Given the description of an element on the screen output the (x, y) to click on. 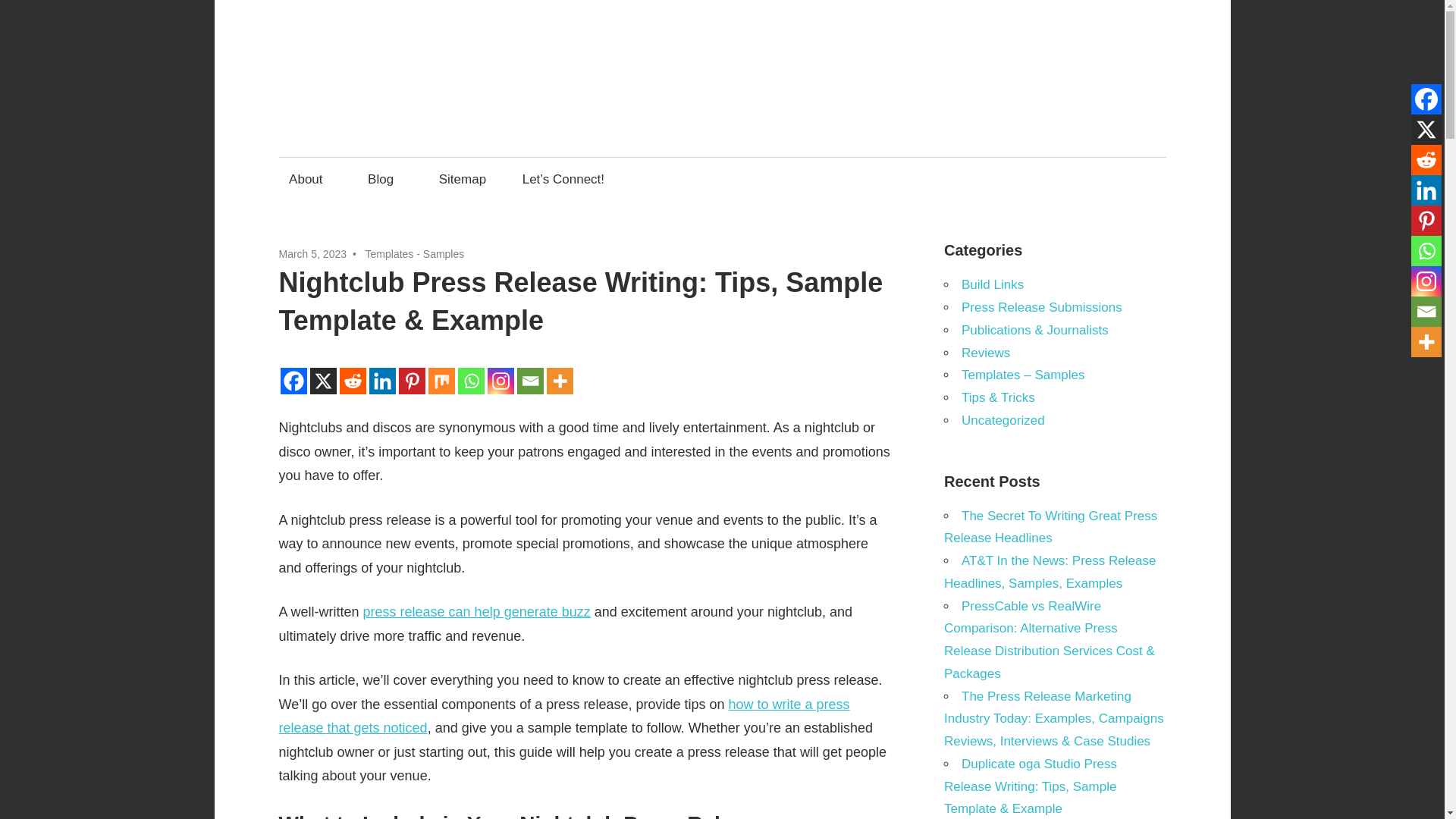
X (1425, 129)
how to write a press release that gets noticed (564, 716)
Linkedin (1425, 190)
Pinterest (1425, 220)
Whatsapp (1425, 250)
March 5, 2023 (313, 254)
Templates - Samples (414, 254)
10:17 pm (313, 254)
Facebook (1425, 99)
press release can help generate buzz (476, 611)
Reddit (1425, 159)
Sitemap (462, 179)
Blog (385, 179)
About (310, 179)
